Given the description of an element on the screen output the (x, y) to click on. 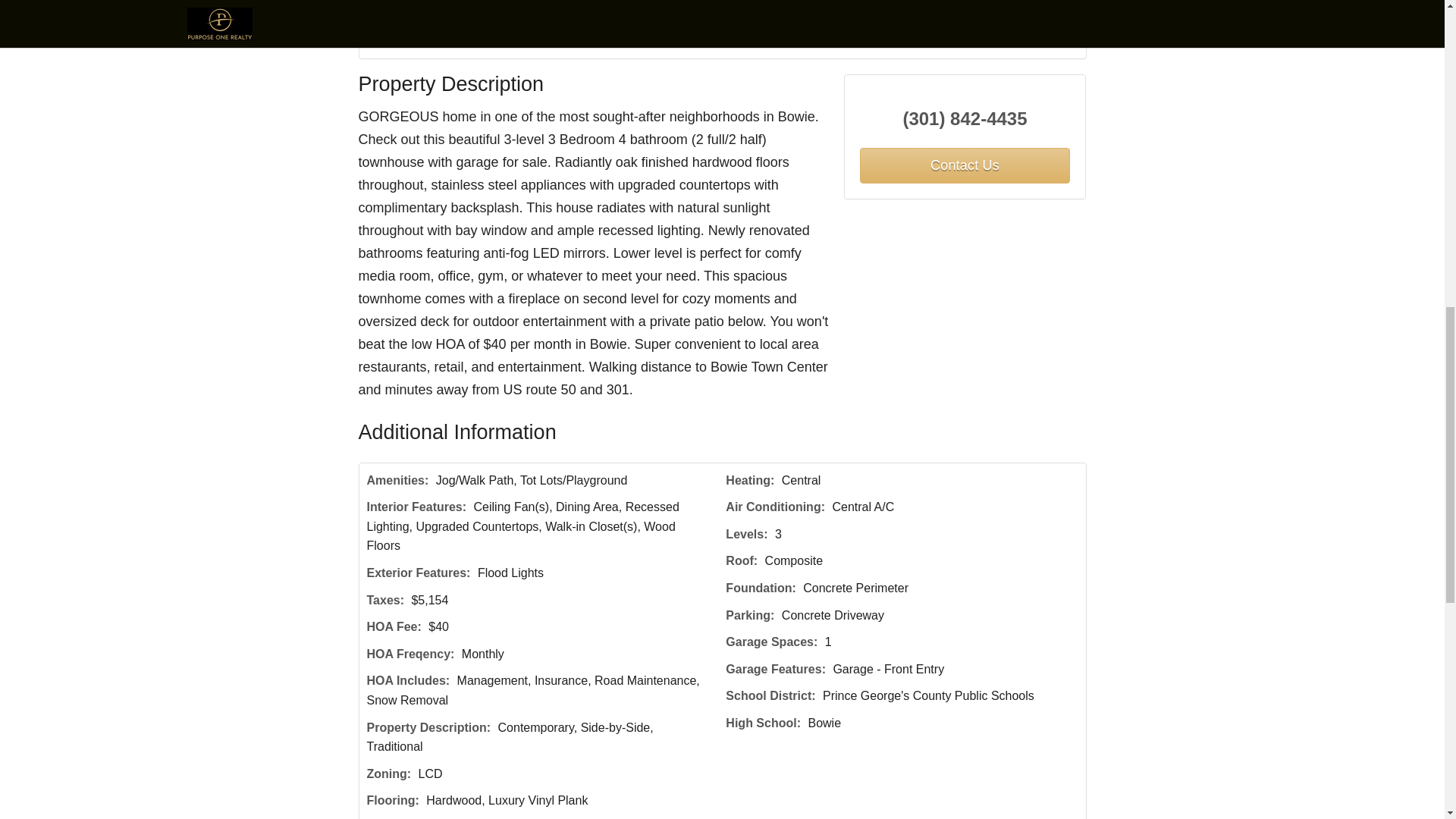
Contact Us (407, 40)
Call Us (481, 40)
View on Map (560, 40)
Share (636, 40)
Contact Us (965, 165)
New Search (1041, 40)
